Given the description of an element on the screen output the (x, y) to click on. 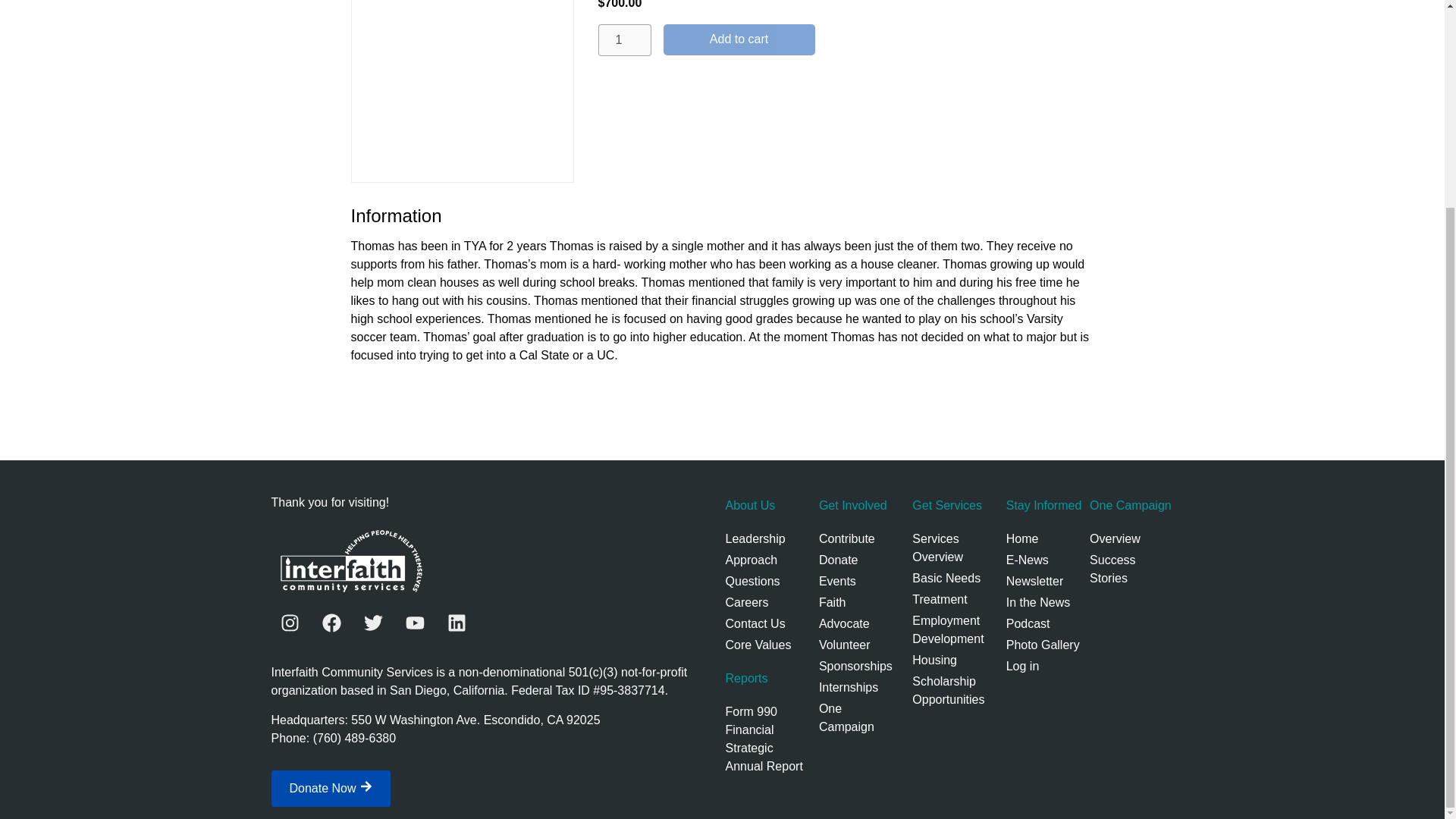
1 (623, 40)
